Given the description of an element on the screen output the (x, y) to click on. 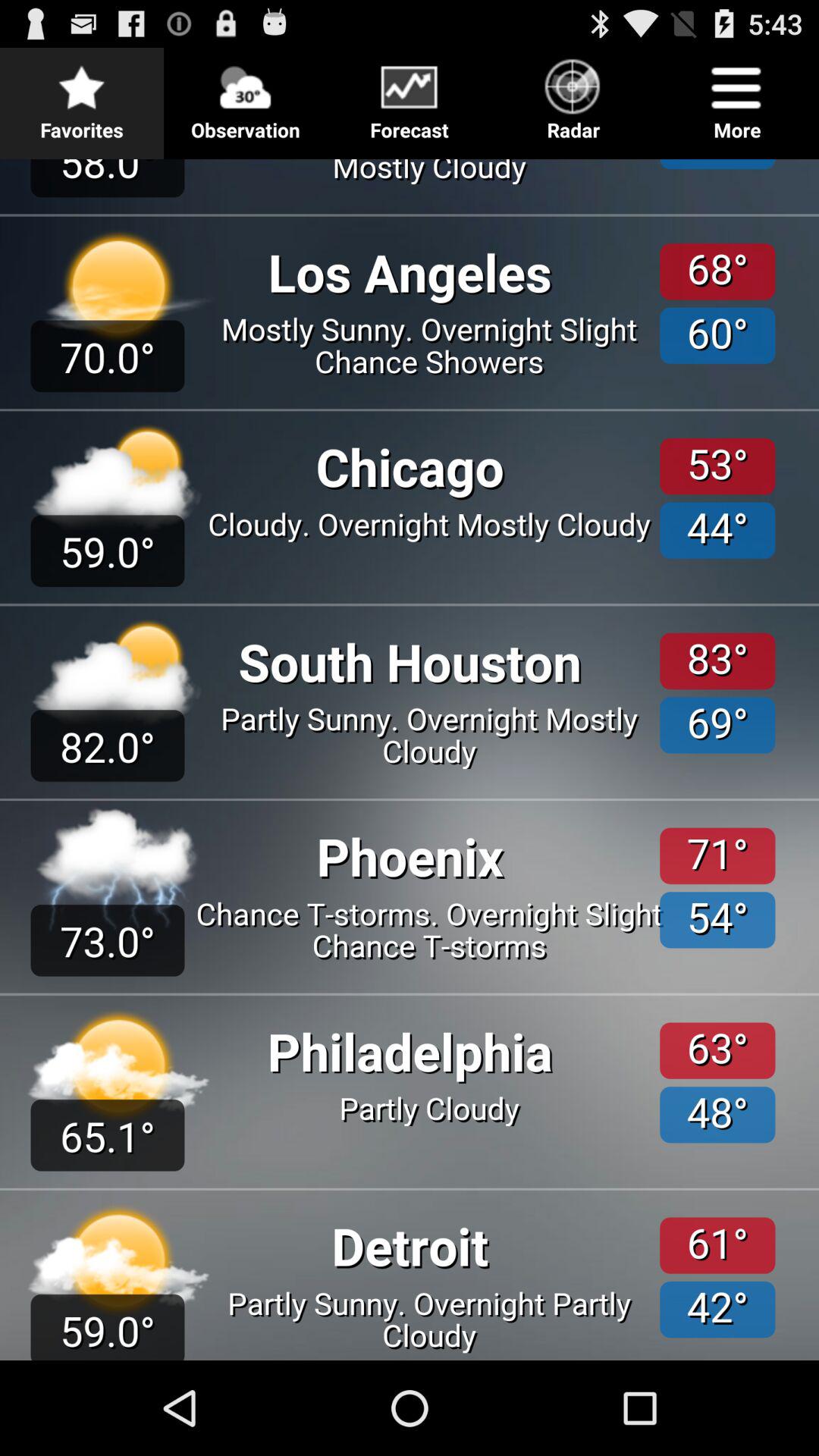
open the item to the right of the radar icon (737, 95)
